Given the description of an element on the screen output the (x, y) to click on. 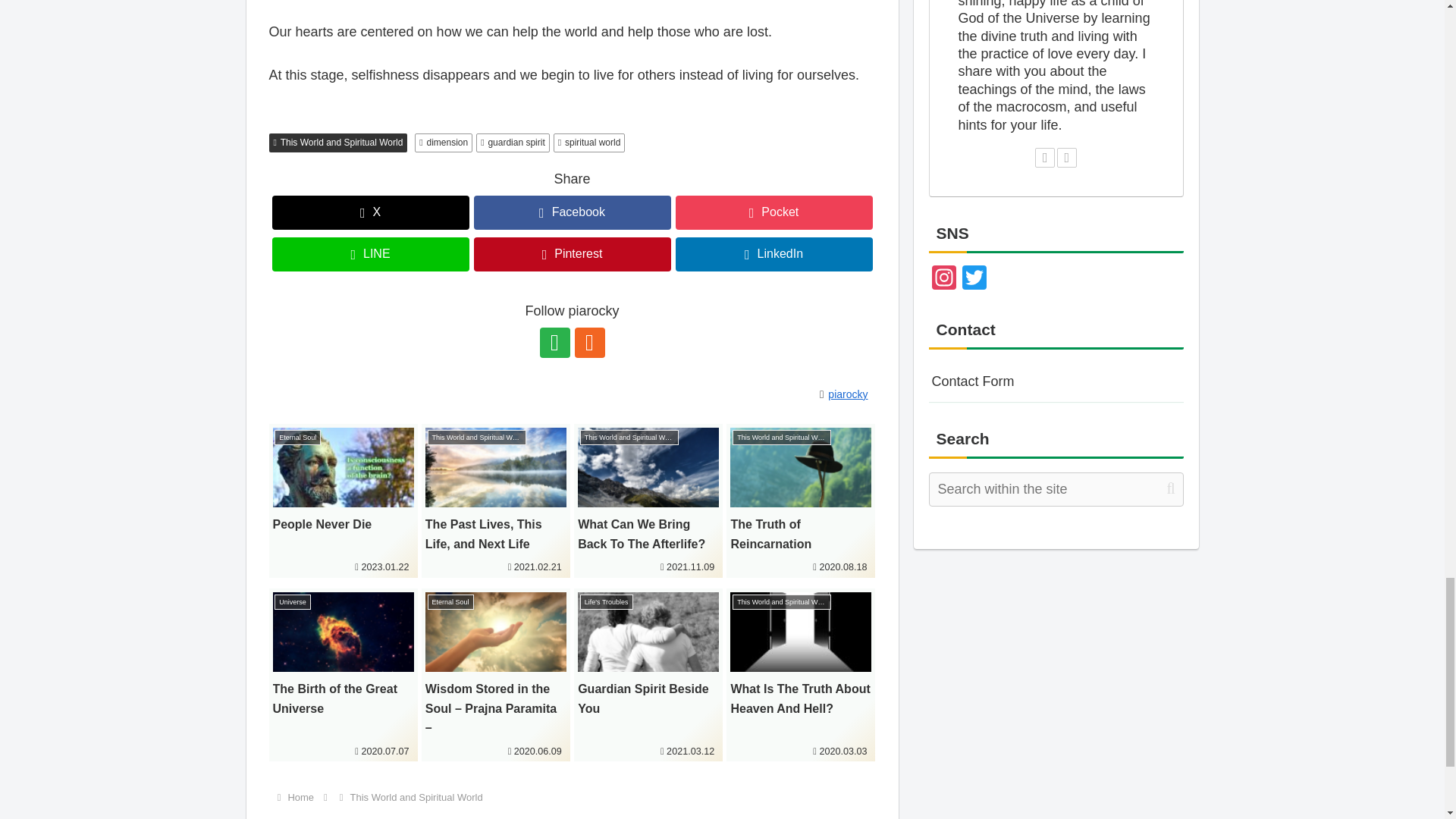
Share on Pinterest (571, 254)
Share on LINE (369, 254)
Share on X (369, 212)
dimension (442, 143)
Save to Pocket (773, 212)
Share on LinkedIn (773, 254)
guardian spirit (513, 143)
The Truth of Reincarnation (800, 501)
piarocky (851, 394)
The Past Lives, This Life, and Next Life (496, 501)
LinkedIn (773, 254)
Facebook (571, 212)
What Can We Bring Back To The Afterlife? (647, 501)
